Given the description of an element on the screen output the (x, y) to click on. 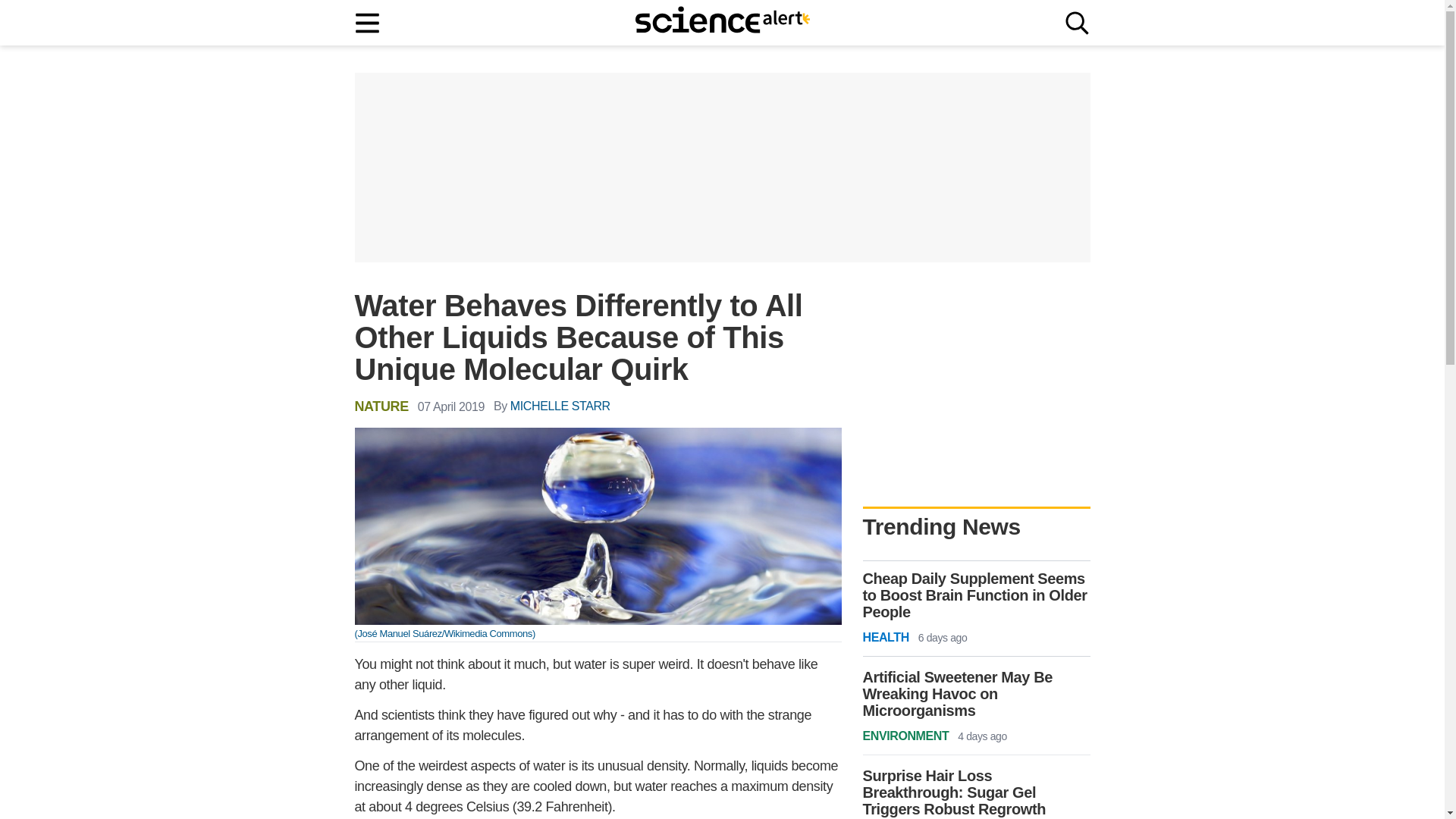
MICHELLE STARR (560, 405)
HEALTH (885, 637)
NATURE (382, 406)
Artificial Sweetener May Be Wreaking Havoc on Microorganisms (976, 694)
